Given the description of an element on the screen output the (x, y) to click on. 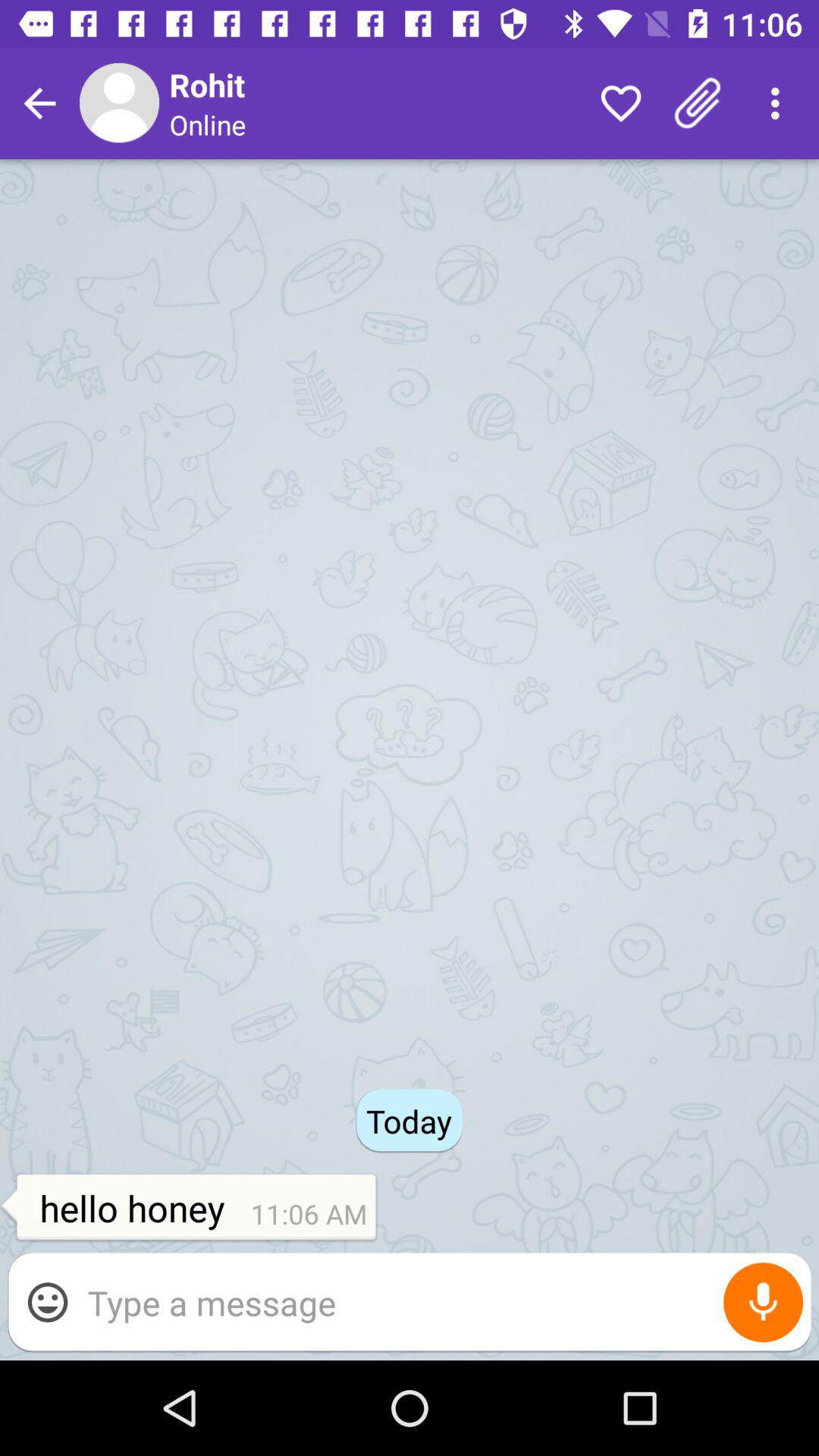
select the item above hello honey (39, 103)
